Given the description of an element on the screen output the (x, y) to click on. 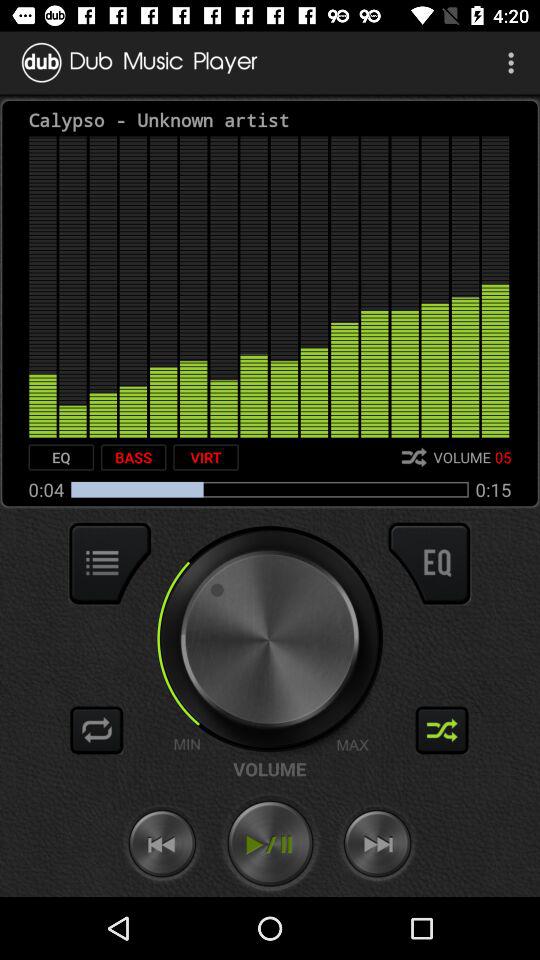
equalization option (429, 563)
